Given the description of an element on the screen output the (x, y) to click on. 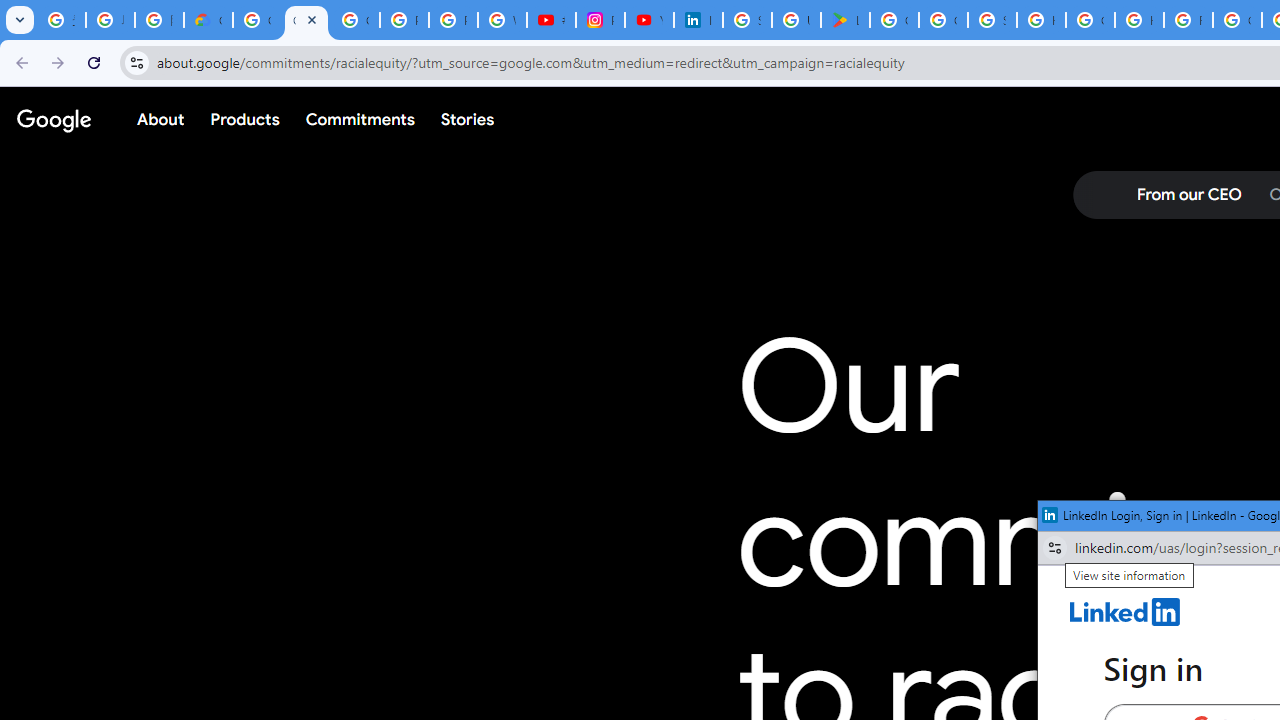
View site information (1055, 547)
AutomationID: linkedin-logo (1125, 611)
